Given the description of an element on the screen output the (x, y) to click on. 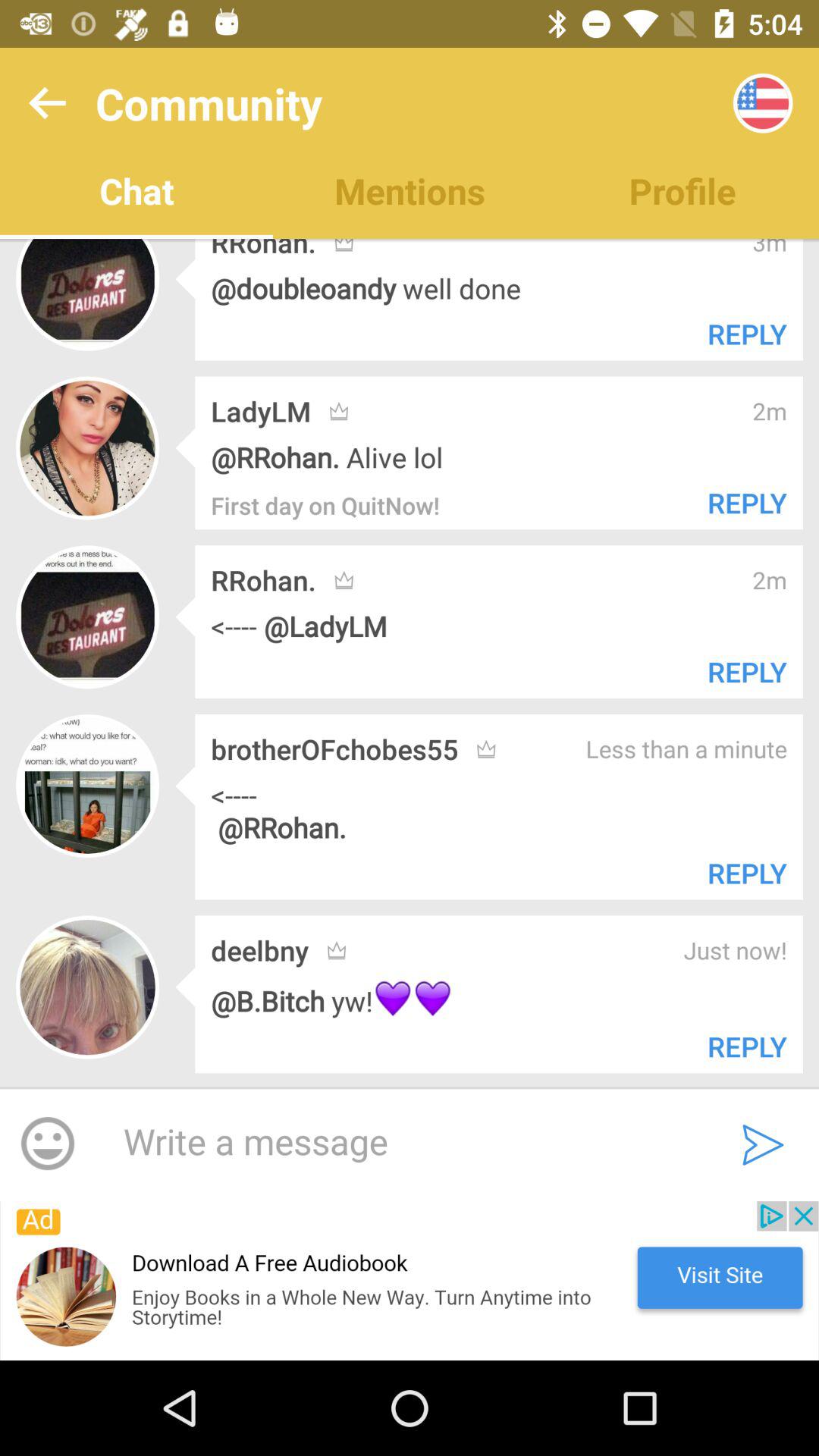
click on text which is beside rrohan (739, 671)
select the image below chat option (86, 294)
select the third row profile picture (86, 616)
select the text which says brotherofchobes55 (334, 749)
